Given the description of an element on the screen output the (x, y) to click on. 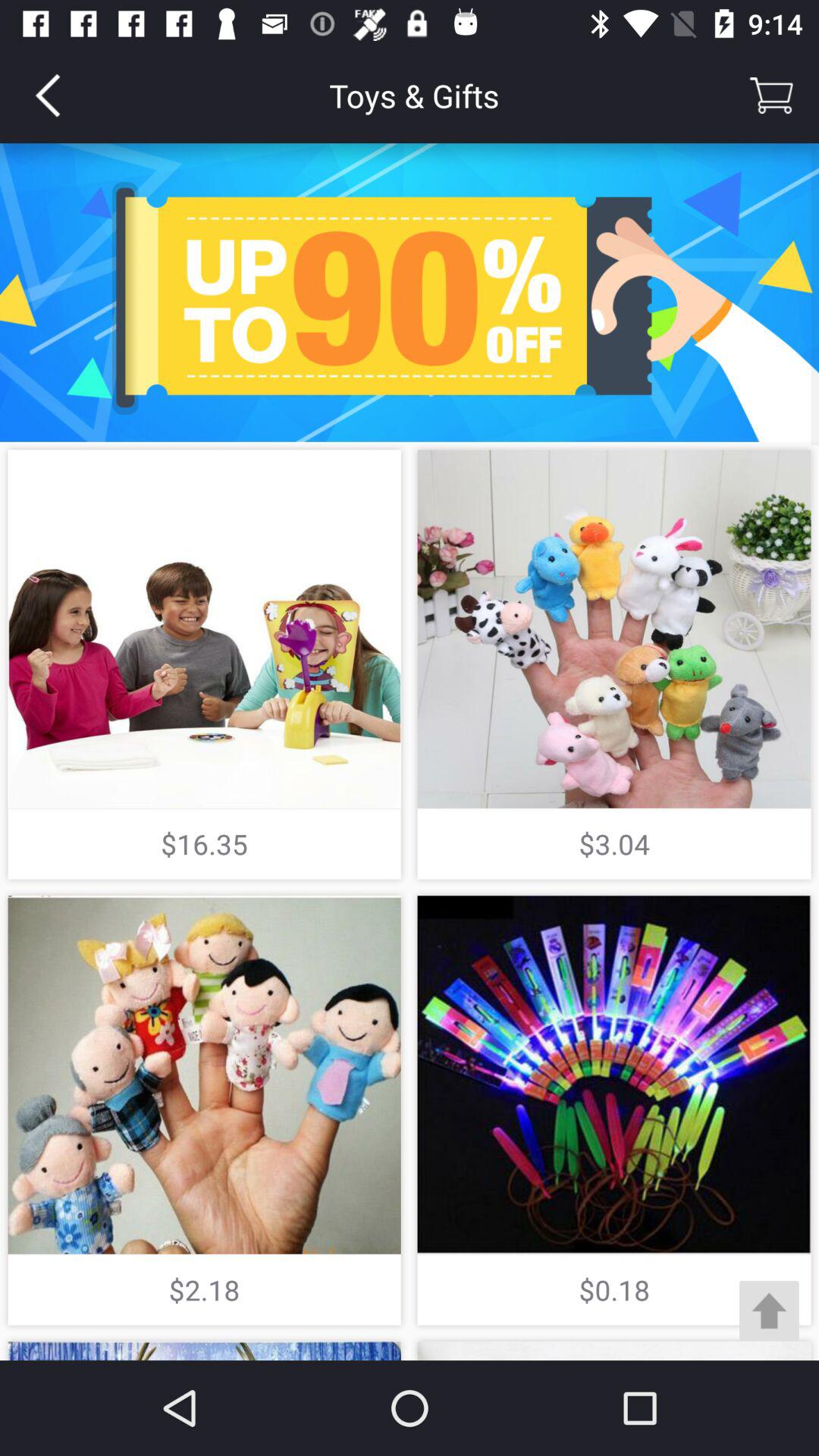
open the item next to the toys & gifts (771, 95)
